Given the description of an element on the screen output the (x, y) to click on. 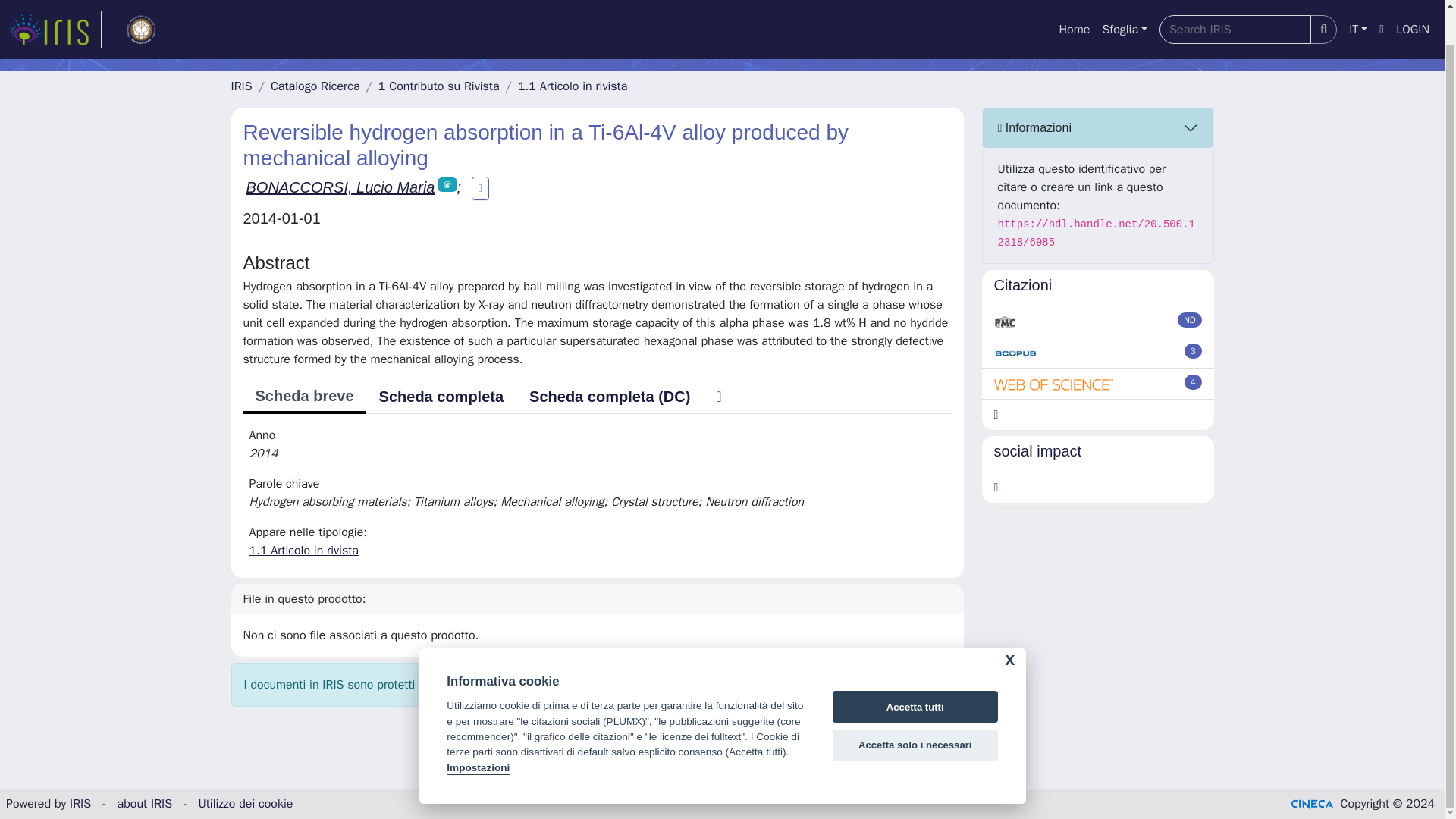
Corresponding author (447, 183)
 Informazioni (1097, 128)
Home (1074, 4)
IT (1357, 4)
aggiornato in data 29-08-2024 17:40 (1193, 350)
about IRIS (145, 803)
LOGIN (1412, 4)
1.1 Articolo in rivista (572, 86)
IRIS (79, 803)
Catalogo Ricerca (314, 86)
